Given the description of an element on the screen output the (x, y) to click on. 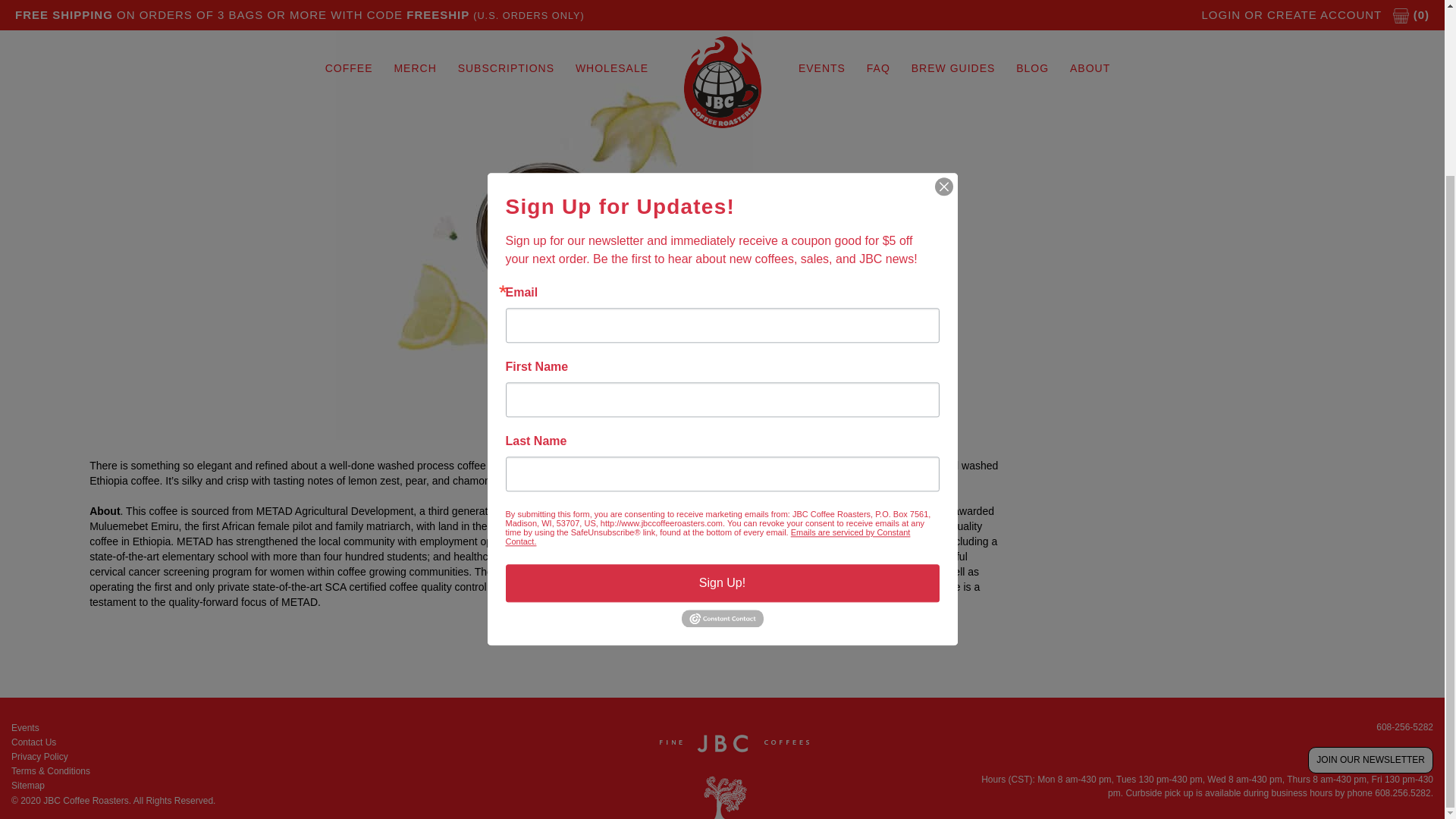
Sitemap (240, 785)
Contact Us (240, 742)
Privacy Policy (240, 757)
Contact Us (240, 742)
Events (240, 727)
608-256-5282 (1403, 726)
Events (240, 727)
Emails are serviced by Constant Contact. (707, 322)
Sign Up! (722, 369)
Sitemap (240, 785)
JOIN OUR NEWSLETTER (1369, 759)
Privacy Policy (240, 757)
